Given the description of an element on the screen output the (x, y) to click on. 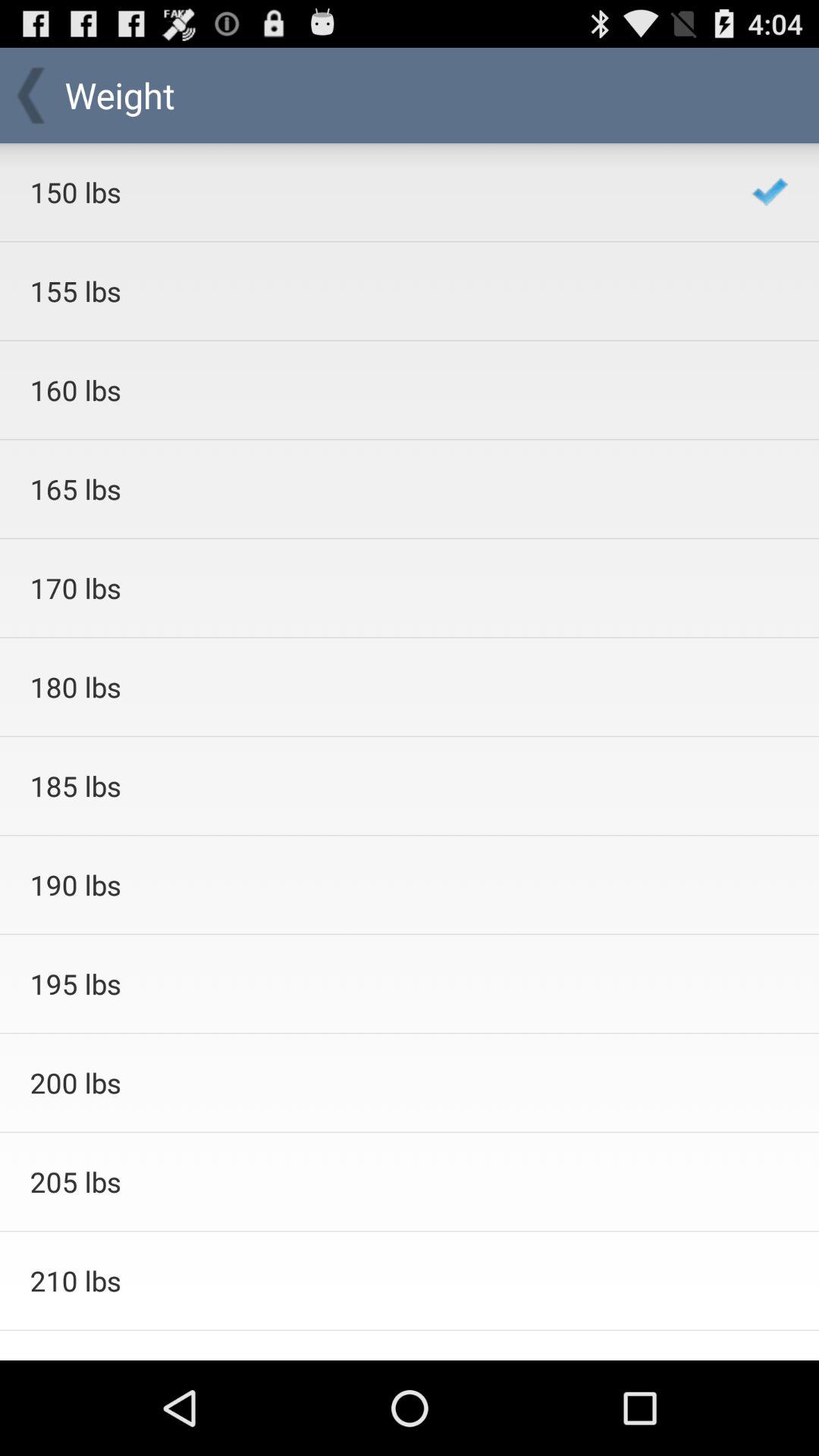
swipe until the 165 lbs app (371, 488)
